Given the description of an element on the screen output the (x, y) to click on. 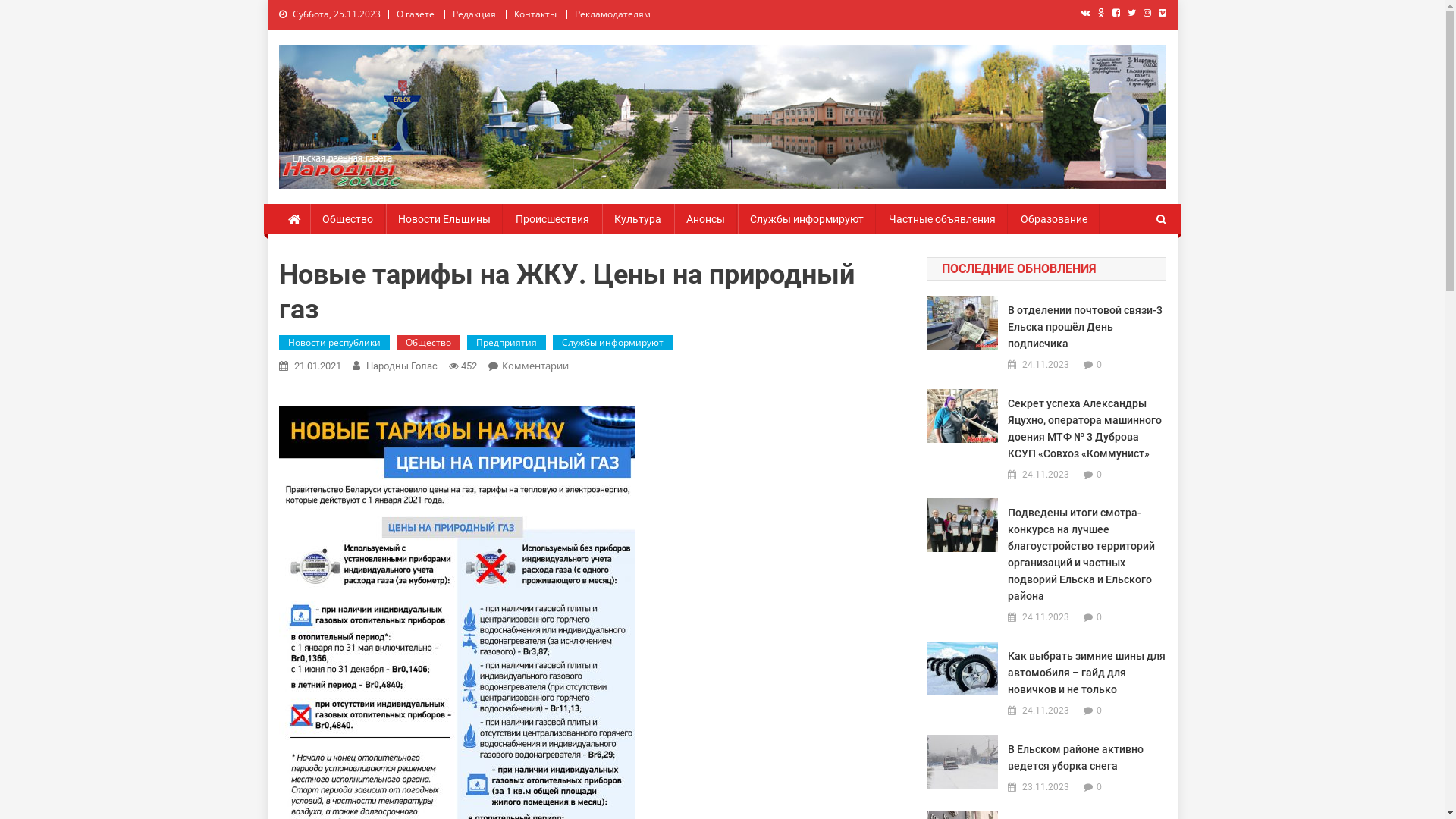
0 Element type: text (1098, 710)
24.11.2023 Element type: text (1045, 475)
24.11.2023 Element type: text (1045, 365)
0 Element type: text (1098, 786)
24.11.2023 Element type: text (1045, 710)
0 Element type: text (1098, 364)
24.11.2023 Element type: text (1045, 617)
21.01.2021 Element type: text (317, 365)
0 Element type: text (1098, 616)
0 Element type: text (1098, 474)
23.11.2023 Element type: text (1045, 787)
